Given the description of an element on the screen output the (x, y) to click on. 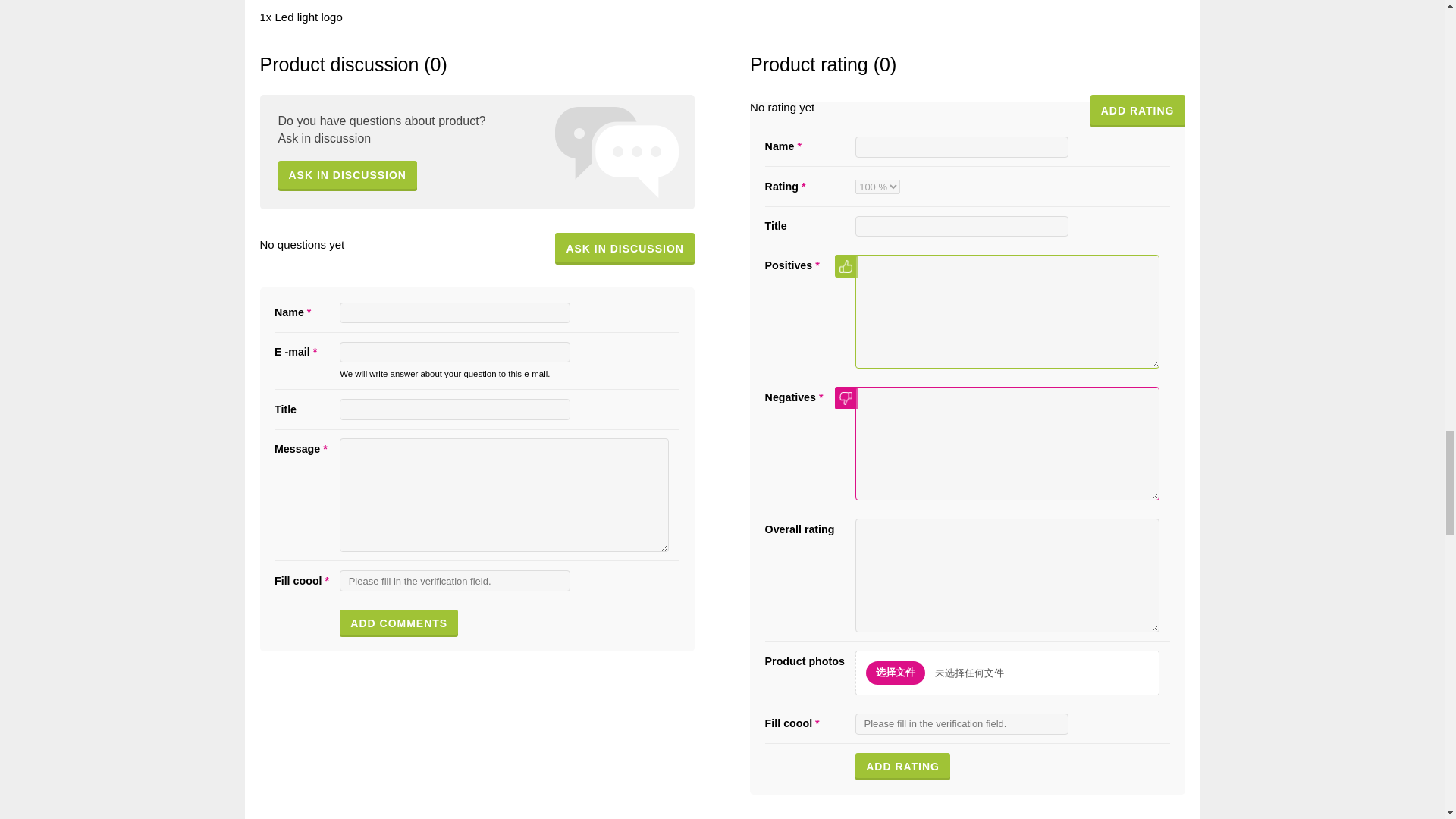
Add comments (398, 623)
Add comments (398, 623)
Add rating (903, 766)
ASK IN DISCUSSION (624, 248)
ADD RATING (1137, 111)
ASK IN DISCUSSION (347, 175)
Add rating (903, 766)
